Given the description of an element on the screen output the (x, y) to click on. 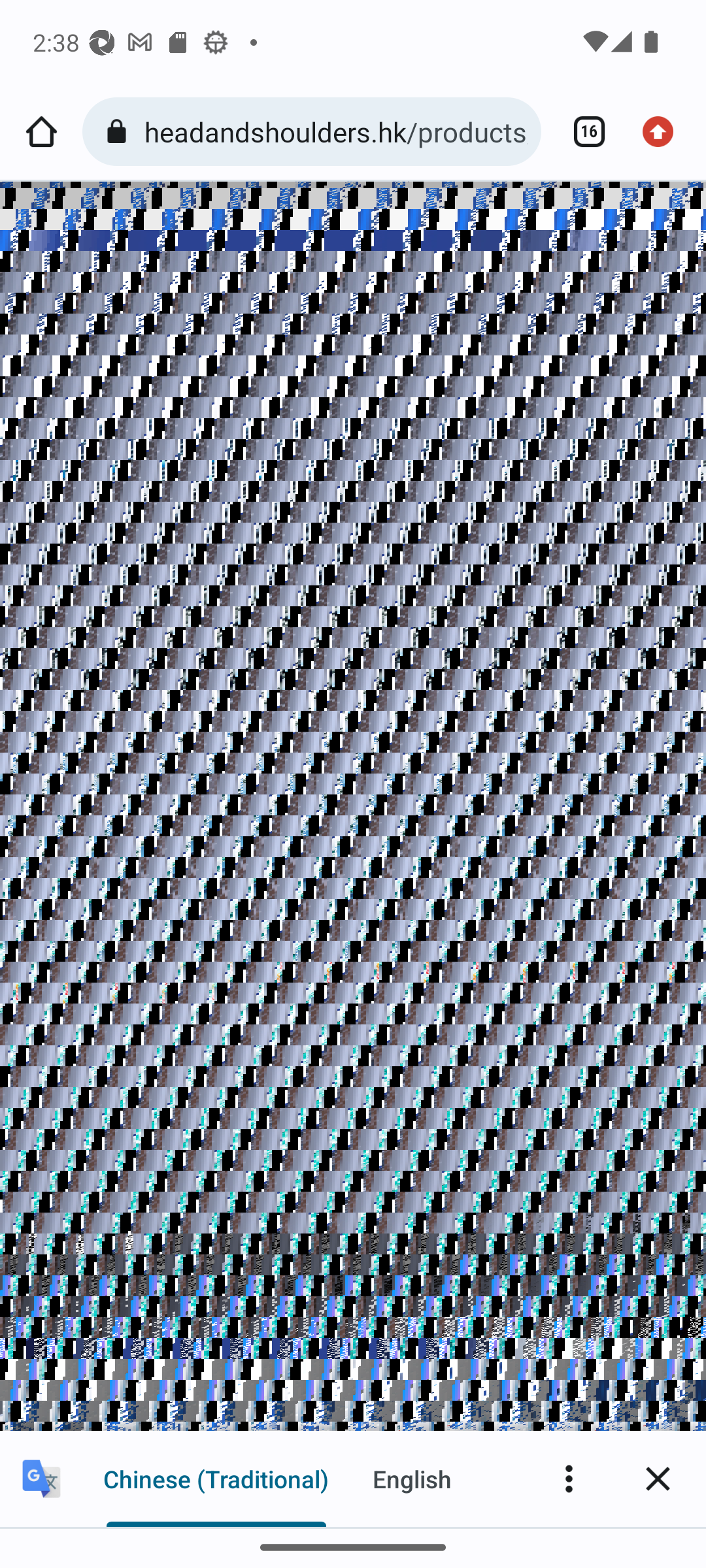
Home (41, 131)
Connection is secure (120, 131)
Switch or close tabs (582, 131)
Update available. More options (664, 131)
English (411, 1478)
More options (568, 1478)
Close (657, 1478)
